Given the description of an element on the screen output the (x, y) to click on. 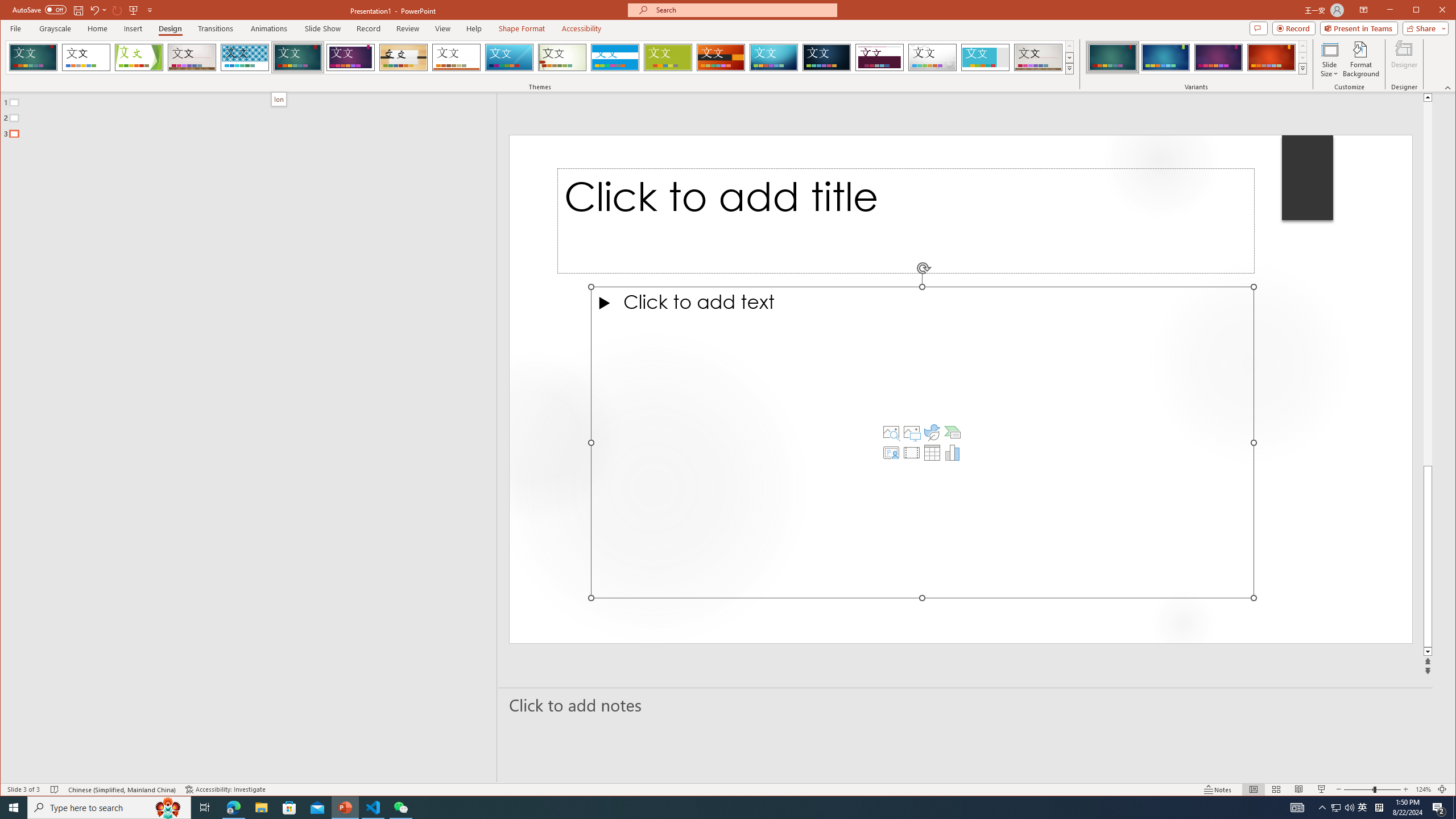
Insert Table (931, 452)
